Given the description of an element on the screen output the (x, y) to click on. 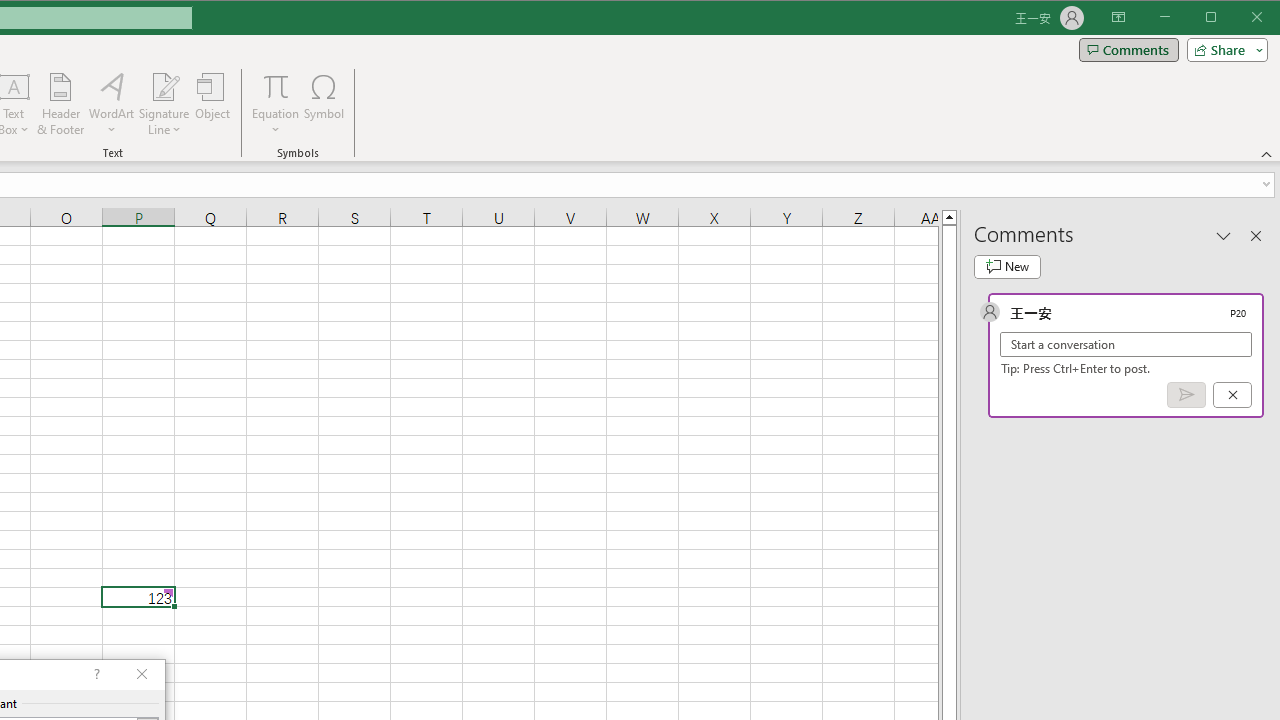
Equation (275, 104)
Object... (213, 104)
Equation (275, 86)
